Given the description of an element on the screen output the (x, y) to click on. 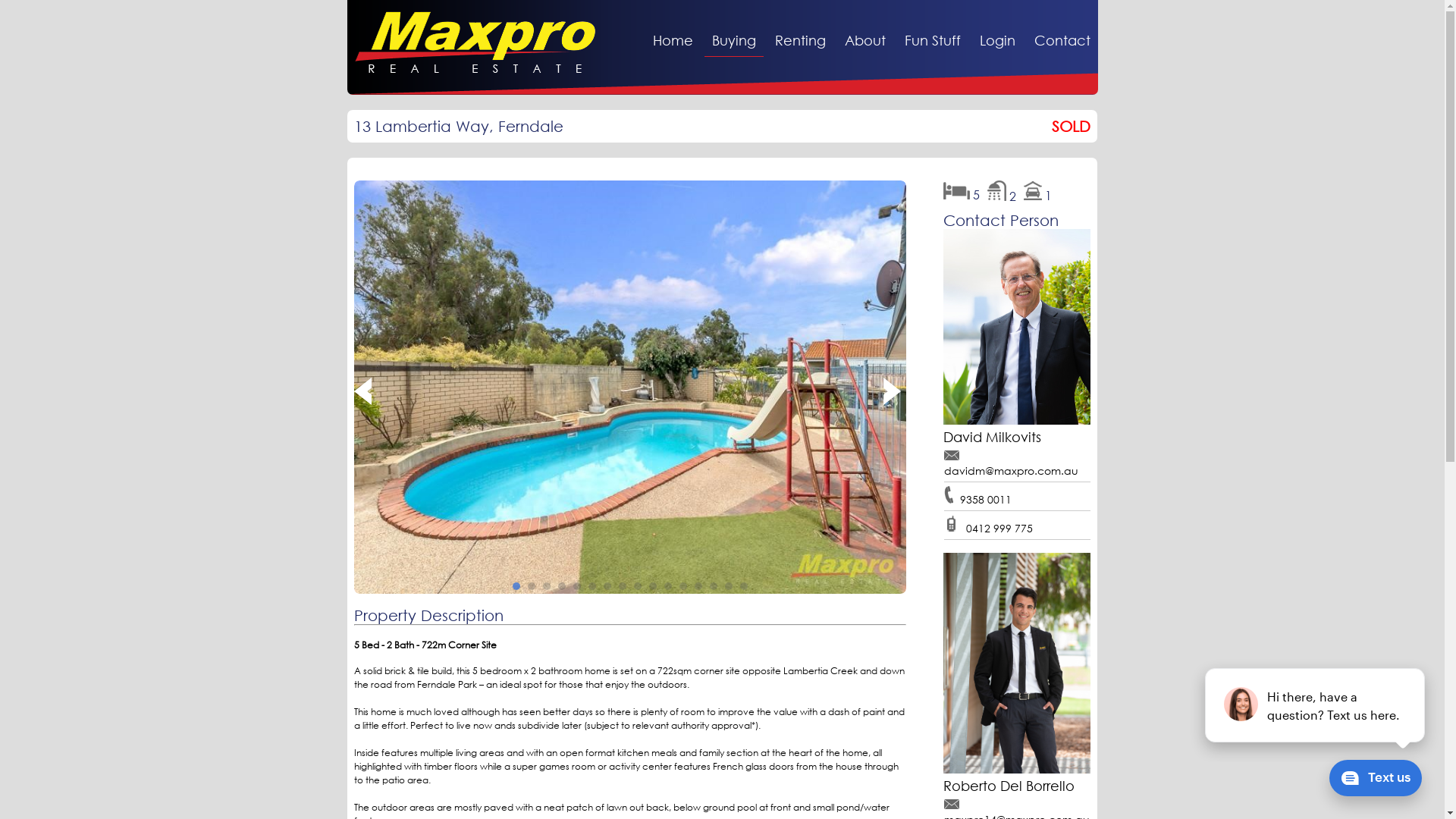
0412 999 775 Element type: text (999, 527)
2 Element type: text (531, 585)
11 Element type: text (667, 585)
Renting Element type: text (800, 39)
9 Element type: text (637, 585)
6 Element type: text (592, 585)
10 Element type: text (652, 585)
16 Element type: text (743, 585)
Fun Stuff Element type: text (931, 39)
5 Element type: text (576, 585)
About Element type: text (864, 39)
Contact Element type: text (1062, 39)
1 Element type: text (516, 585)
Buying Element type: text (733, 39)
15 Element type: text (728, 585)
3 Element type: text (546, 585)
9358 0011 Element type: text (985, 499)
Login Element type: text (997, 39)
Home Element type: text (672, 39)
7 Element type: text (607, 585)
8 Element type: text (622, 585)
Property for sale in Ferndale Element type: hover (630, 387)
davidm@maxpro.com.au Element type: text (1011, 470)
4 Element type: text (561, 585)
13 Element type: text (698, 585)
14 Element type: text (713, 585)
12 Element type: text (683, 585)
podium webchat widget prompt Element type: hover (1315, 705)
